Given the description of an element on the screen output the (x, y) to click on. 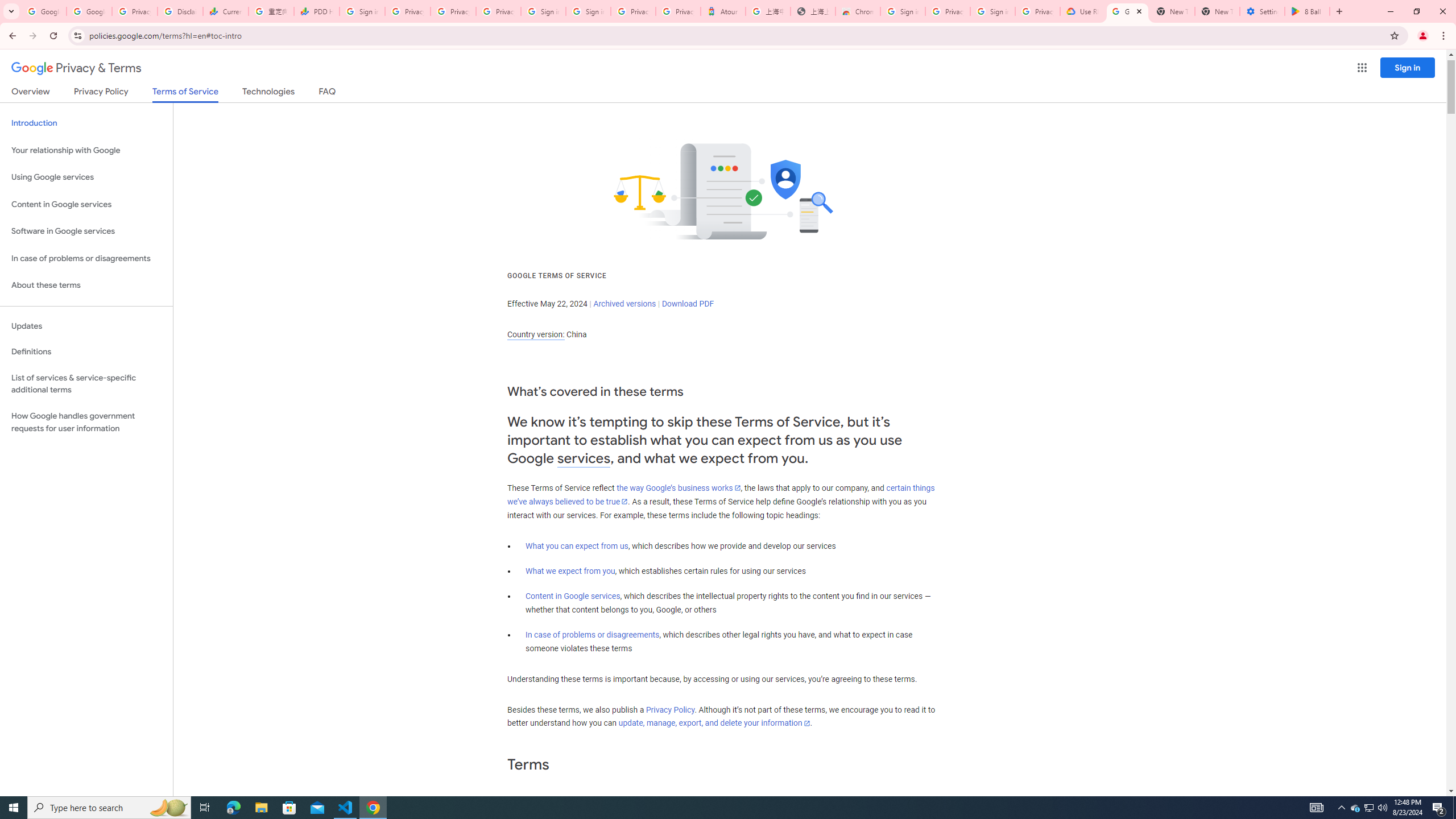
Archived versions (624, 303)
Settings - System (1262, 11)
PDD Holdings Inc - ADR (PDD) Price & News - Google Finance (316, 11)
Download PDF (687, 303)
What you can expect from us (576, 545)
Sign in - Google Accounts (587, 11)
